Given the description of an element on the screen output the (x, y) to click on. 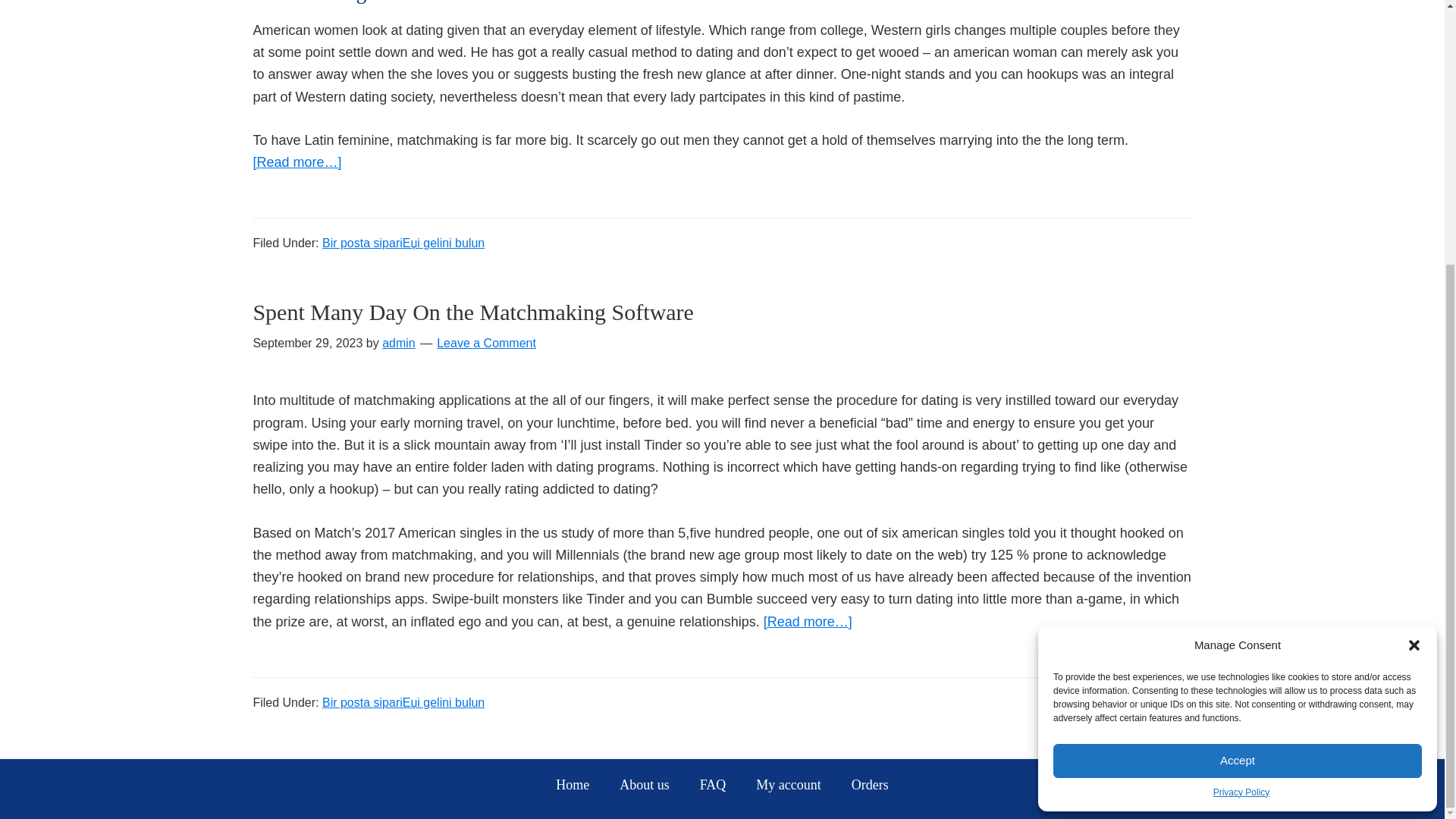
Accept (1237, 378)
Privacy Policy (1240, 411)
